Given the description of an element on the screen output the (x, y) to click on. 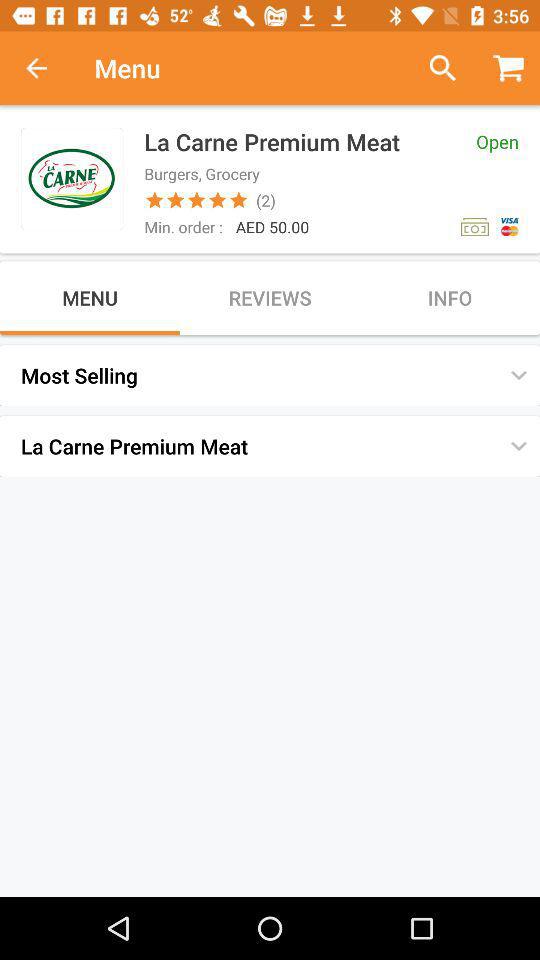
press the item next to the menu item (47, 68)
